Given the description of an element on the screen output the (x, y) to click on. 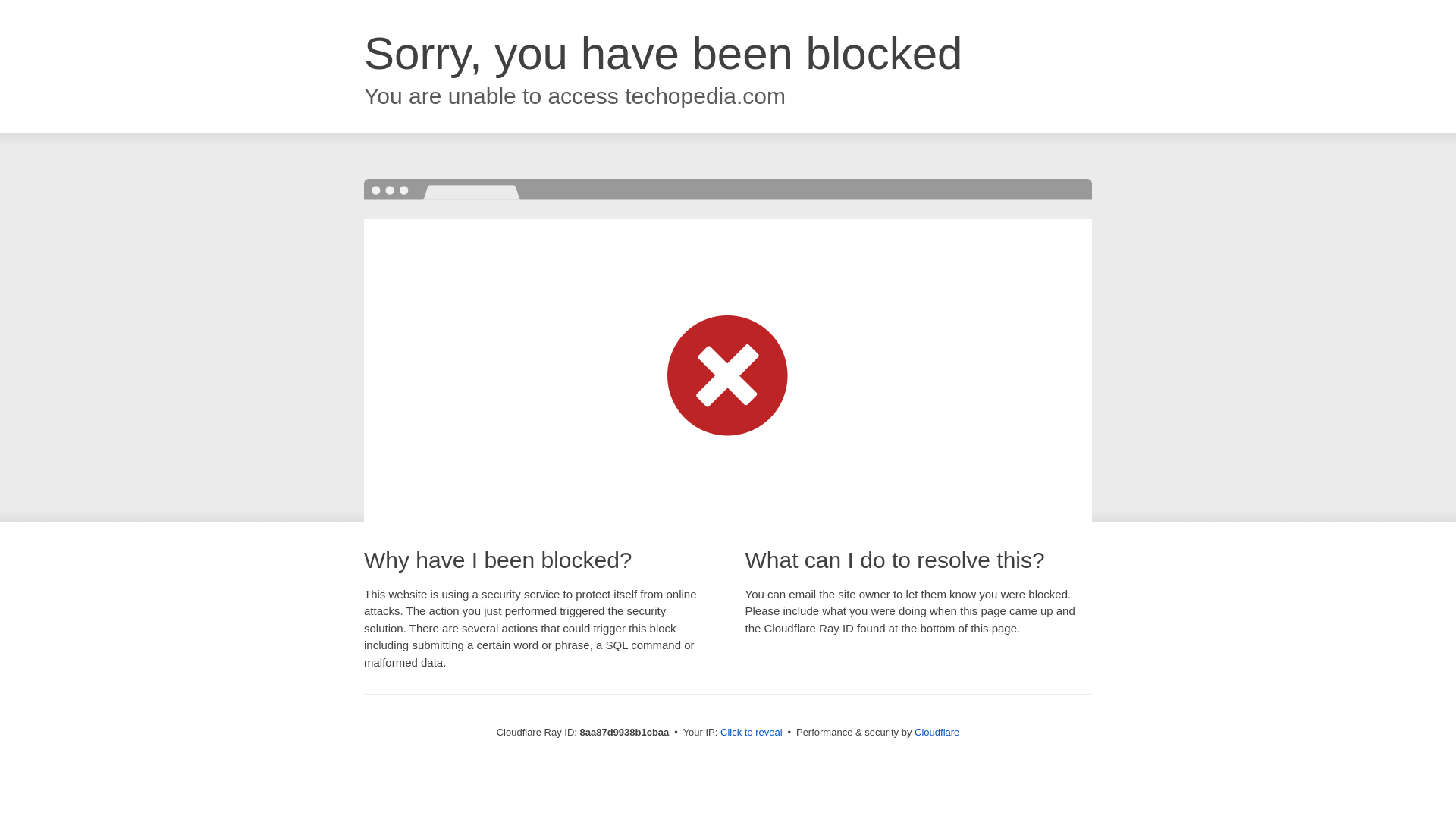
Click to reveal (751, 732)
Cloudflare (936, 731)
